Given the description of an element on the screen output the (x, y) to click on. 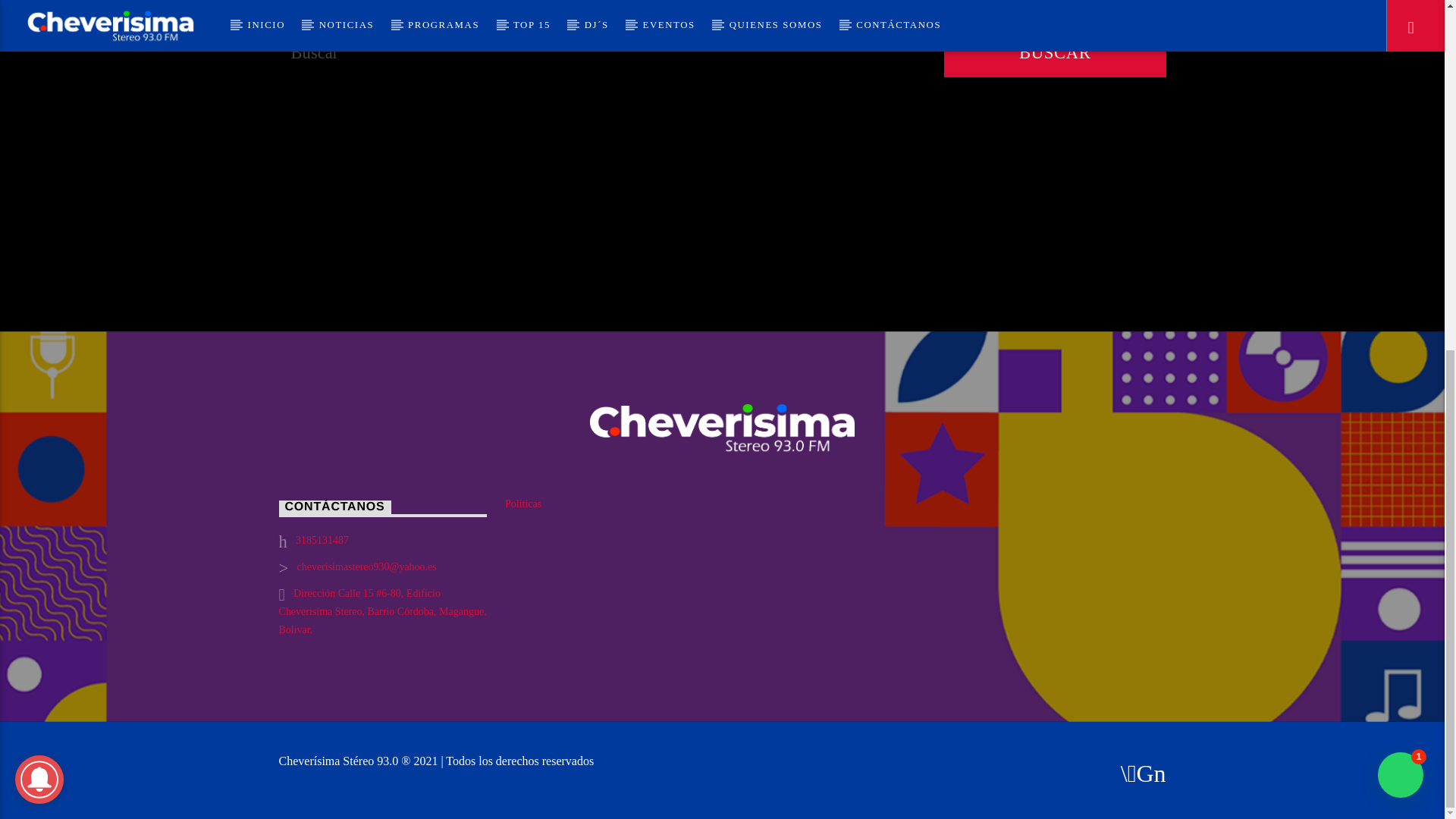
3185131487 (322, 540)
Buscar (1054, 52)
Politicas (523, 503)
